Given the description of an element on the screen output the (x, y) to click on. 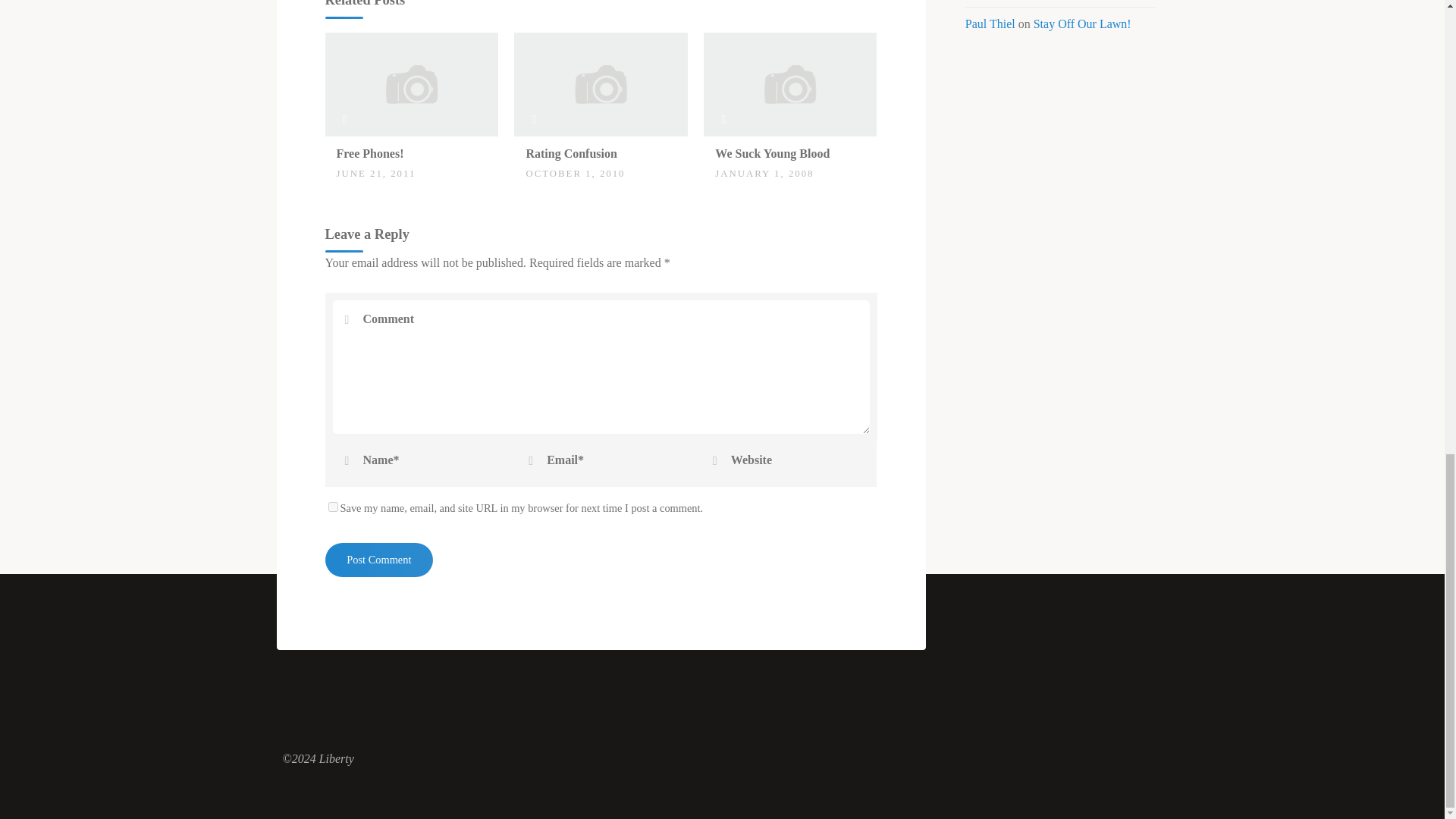
Post Comment (378, 560)
Free Phones! (370, 153)
yes (332, 506)
Free Phones! (370, 153)
Free Phones! (410, 82)
0 (344, 146)
